Given the description of an element on the screen output the (x, y) to click on. 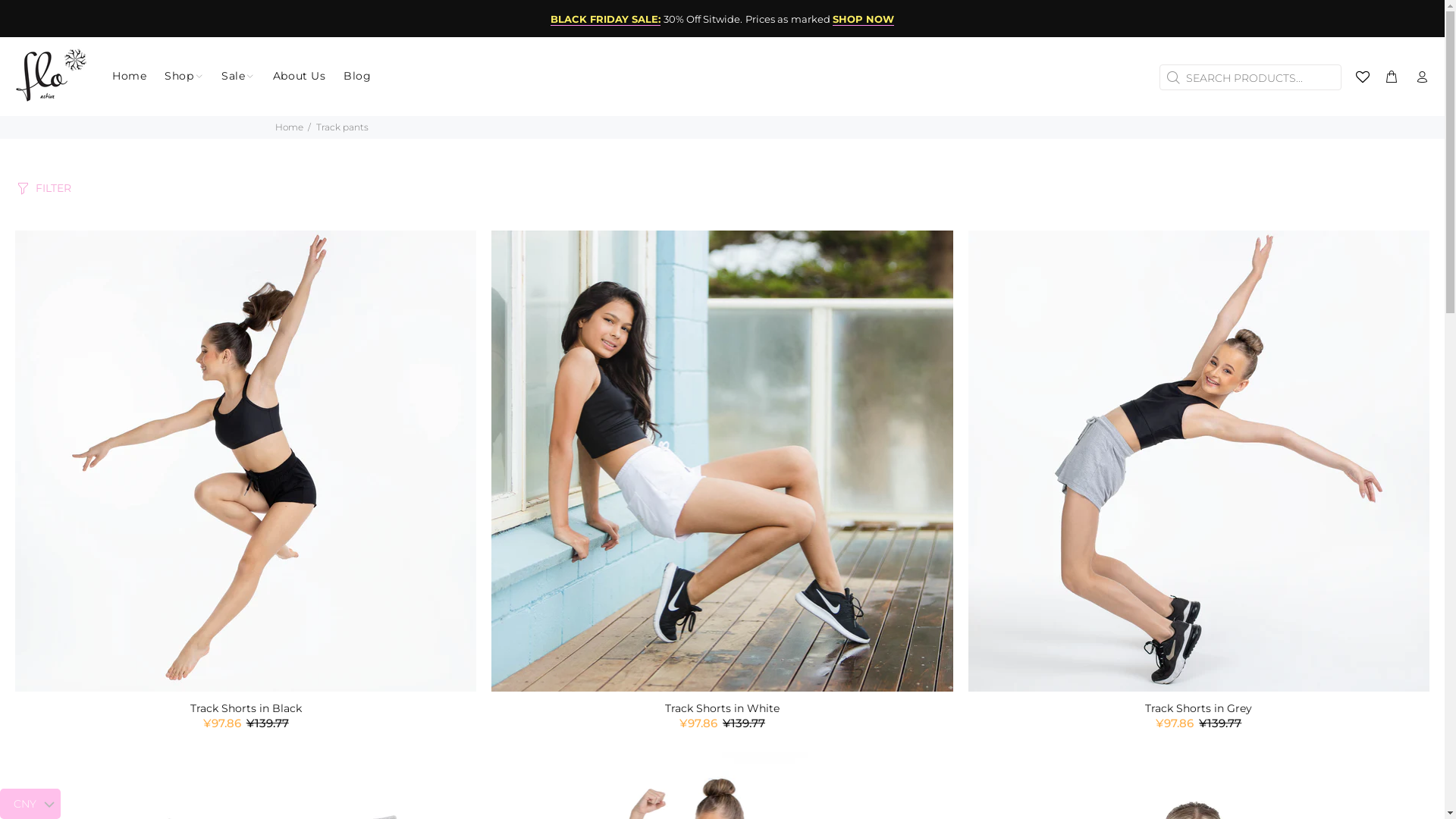
Sale Element type: text (237, 75)
FILTER Element type: text (43, 186)
BLACK FRIDAY SALE: Element type: text (605, 18)
About Us Element type: text (298, 75)
Shop Element type: text (183, 75)
Home Element type: text (288, 126)
Track Shorts in White Element type: text (722, 708)
Home Element type: text (129, 75)
Track Shorts in Grey Element type: text (1198, 708)
Blog Element type: text (352, 75)
SHOP NOW Element type: text (863, 18)
Track Shorts in Black Element type: text (245, 708)
